Given the description of an element on the screen output the (x, y) to click on. 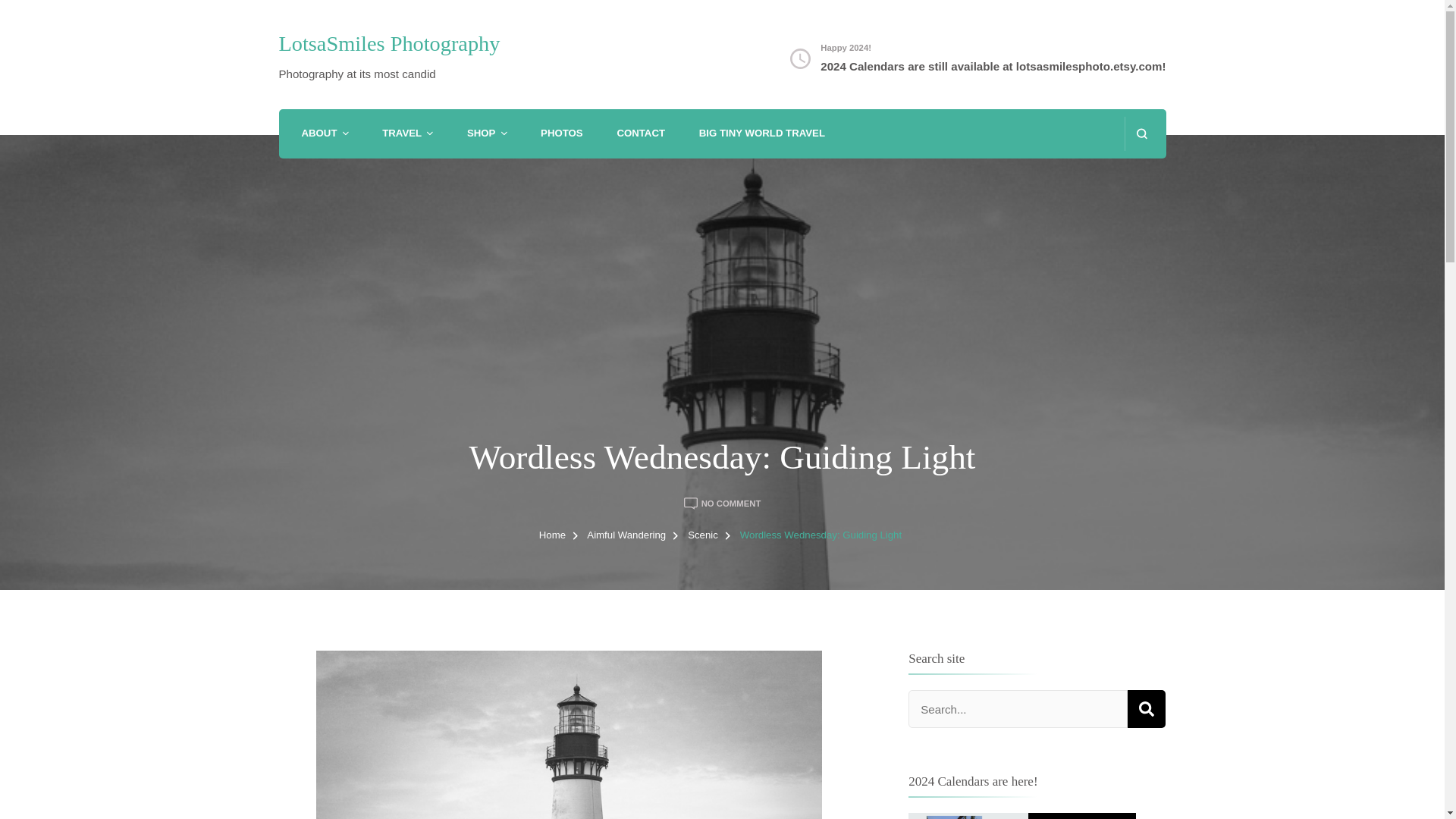
Contact (640, 134)
Some of my Projects (561, 134)
LotsaSmiles Photography (389, 43)
TRAVEL (401, 134)
Blog (401, 134)
Search (1146, 709)
Search (1146, 709)
About (319, 134)
ABOUT (319, 134)
